Given the description of an element on the screen output the (x, y) to click on. 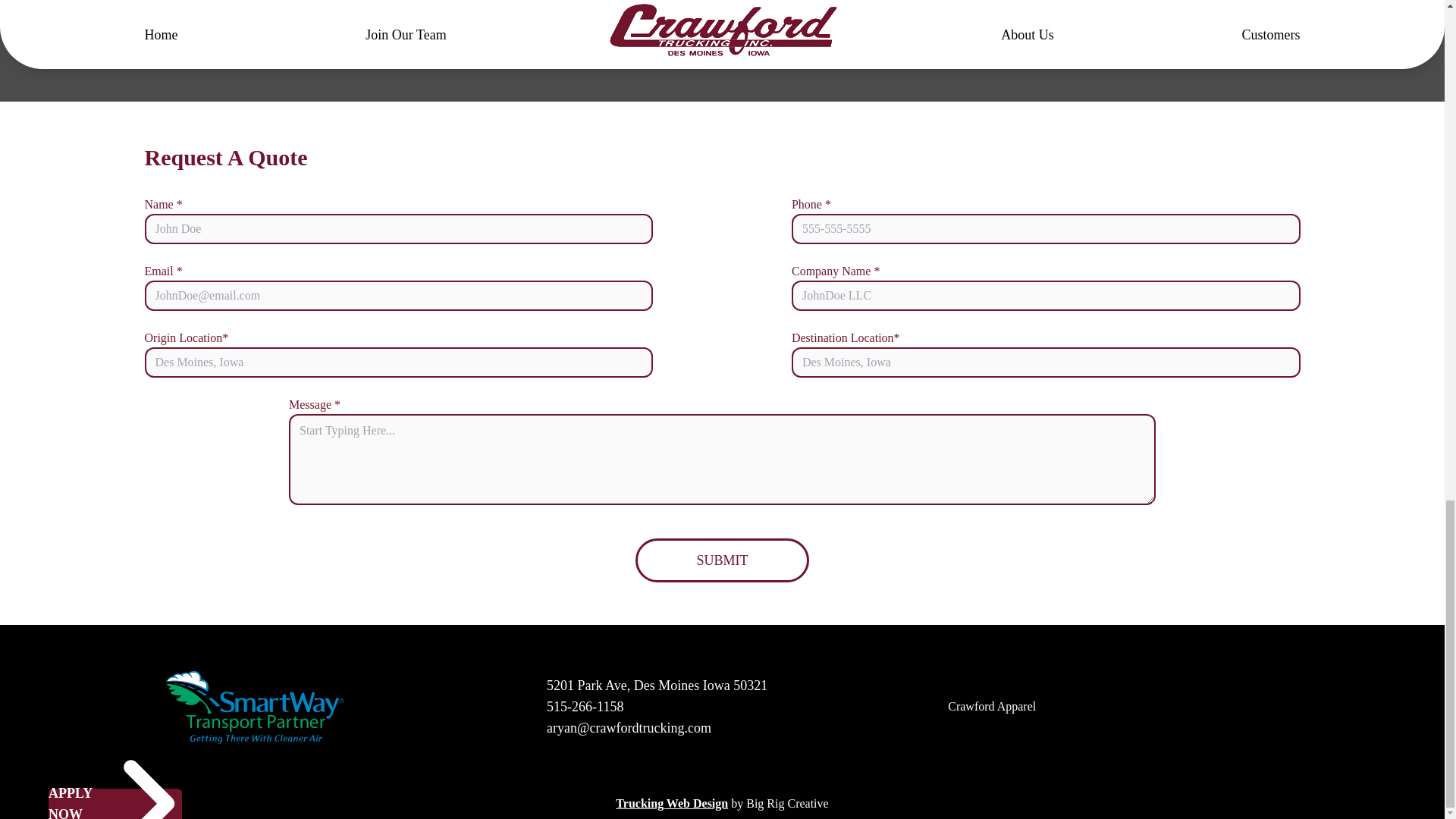
Trucking Web Design (671, 802)
submit (721, 560)
Crawford Apparel (991, 706)
submit (721, 560)
